Given the description of an element on the screen output the (x, y) to click on. 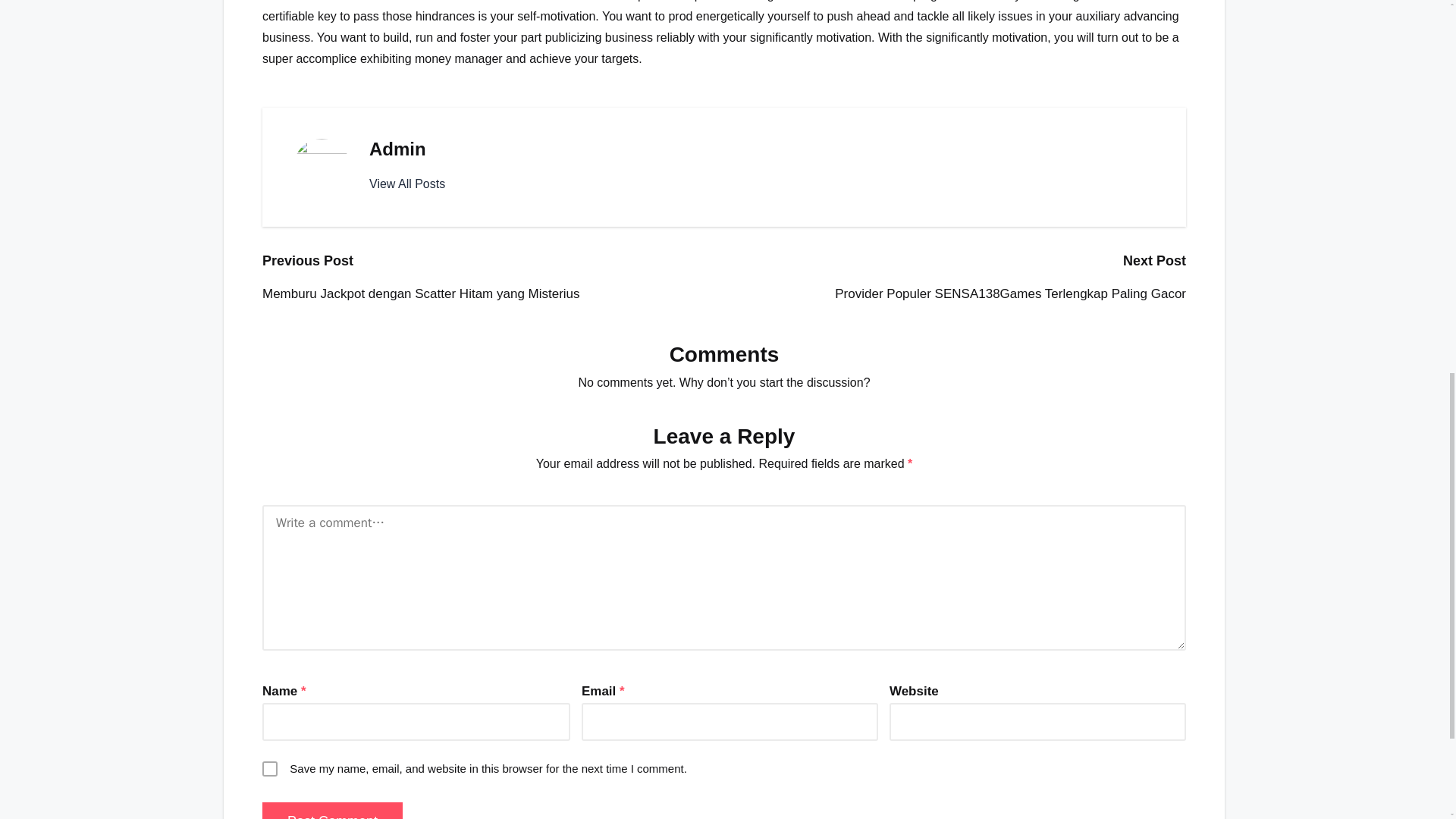
Provider Populer SENSA138Games Terlengkap Paling Gacor (954, 293)
Admin (397, 148)
yes (270, 768)
Post Comment (332, 810)
Memburu Jackpot dengan Scatter Hitam yang Misterius (492, 293)
Post Comment (332, 810)
View All Posts (407, 184)
